Given the description of an element on the screen output the (x, y) to click on. 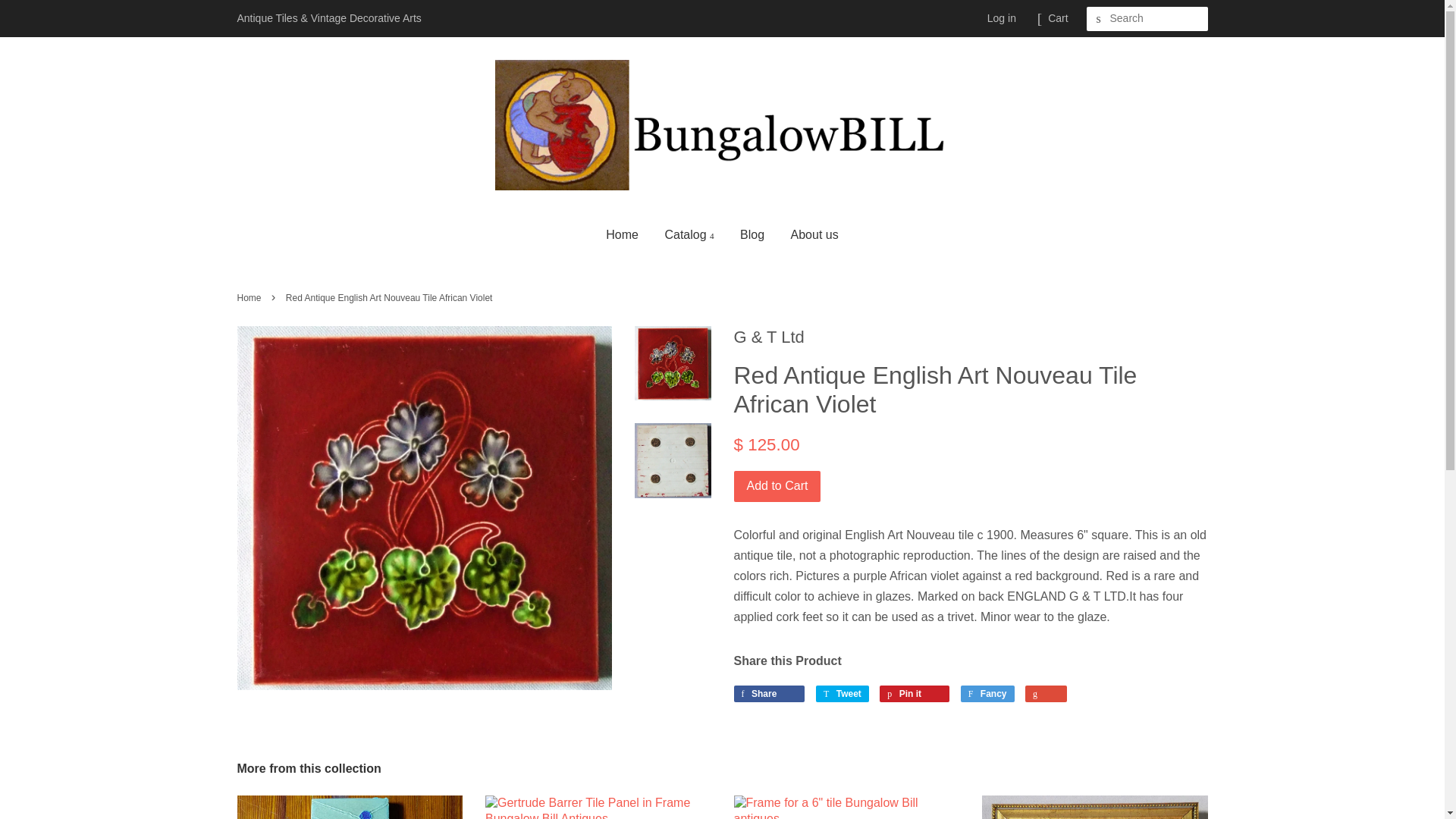
Cart (1057, 18)
Catalog (688, 234)
Log in (1001, 18)
Search (1097, 18)
Back to the frontpage (249, 297)
Home (627, 234)
About us (808, 234)
Blog (752, 234)
